Given the description of an element on the screen output the (x, y) to click on. 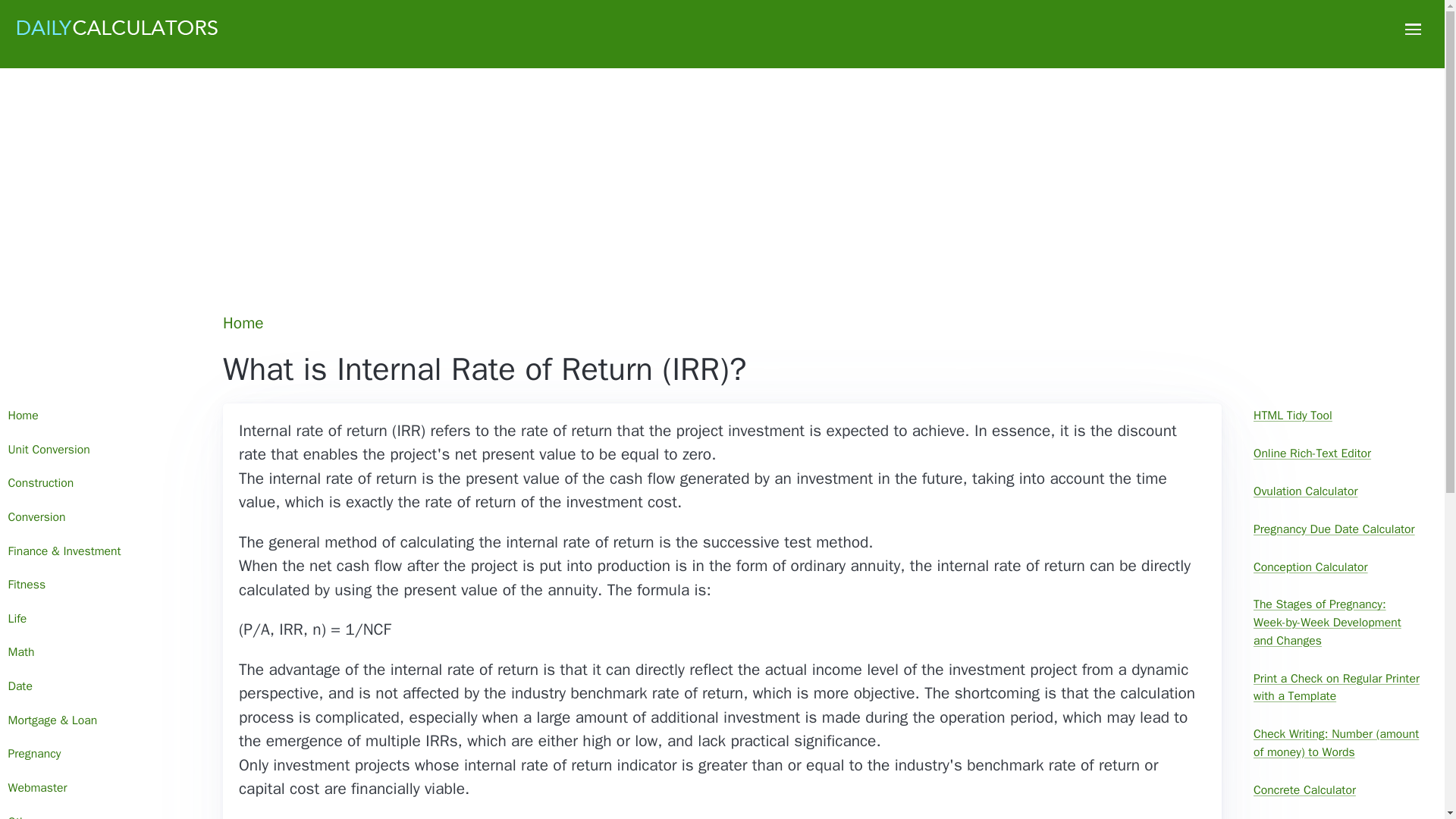
HTML Tidy Tool (1337, 416)
Math (99, 653)
Print a Check on Regular Printer with a Template (1337, 687)
Ovulation Calculator (1337, 492)
Online Rich-Text Editor (1337, 454)
Date (99, 687)
Life (99, 618)
Home (243, 323)
